Given the description of an element on the screen output the (x, y) to click on. 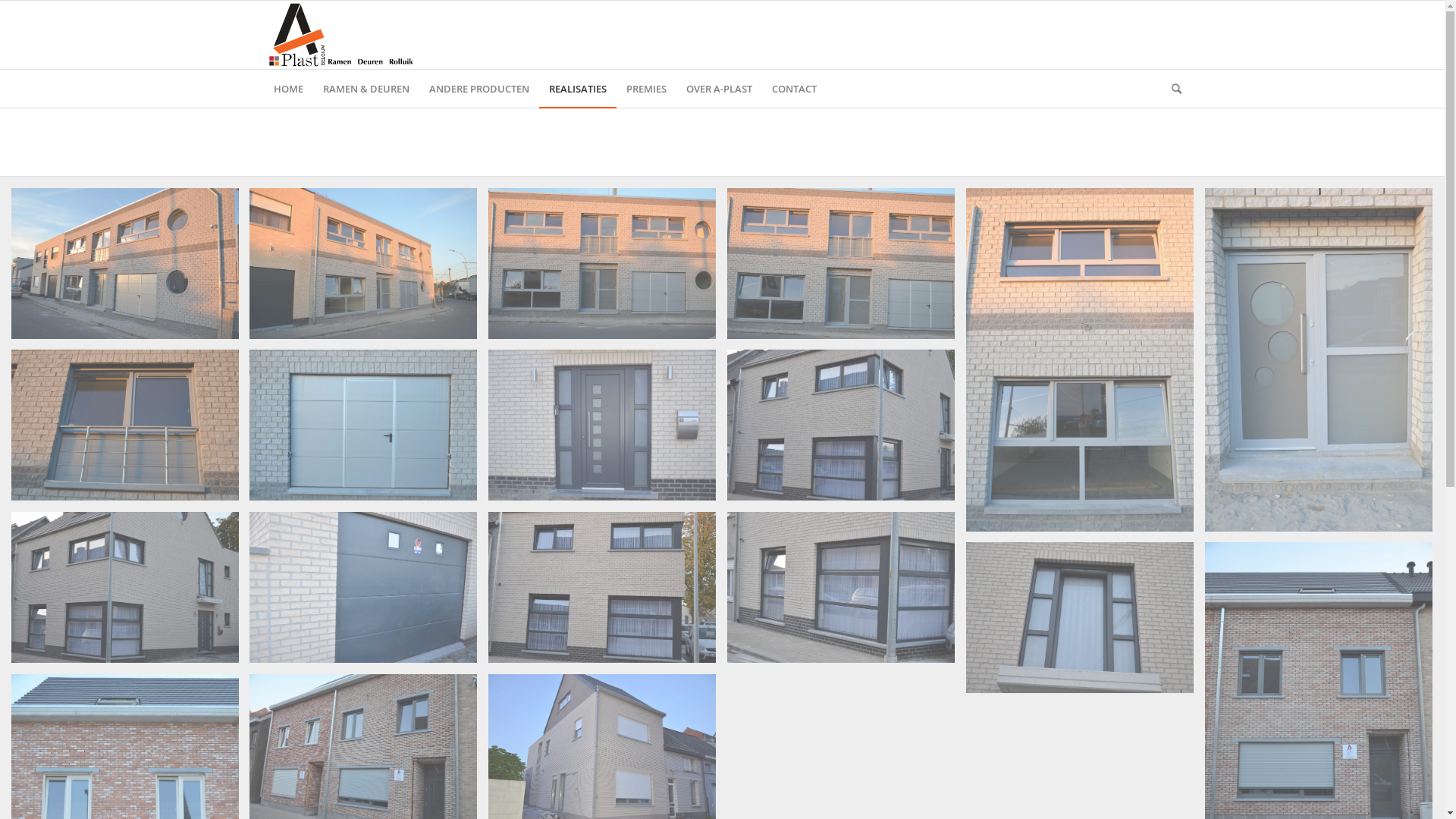
ANDERE PRODUCTEN Element type: text (478, 88)
HOME Element type: text (288, 88)
DSC_7775 Element type: hover (1079, 617)
DSC_7774 Element type: hover (601, 424)
DSC_7777 Element type: hover (840, 586)
DSC_7779 Element type: hover (362, 586)
DSC_7760 Element type: hover (362, 263)
OVER A-PLAST Element type: text (719, 88)
DSC_7793 Element type: hover (840, 424)
DSC_7770 Element type: hover (124, 424)
PREMIES Element type: text (645, 88)
DSC_7766 Element type: hover (840, 263)
CONTACT Element type: text (793, 88)
DSC_7767 Element type: hover (1079, 359)
DSC_7771 Element type: hover (362, 424)
DSC_7790 Element type: hover (124, 586)
DSC_7769 Element type: hover (1318, 359)
REALISATIES Element type: text (576, 88)
RAMEN & DEUREN Element type: text (365, 88)
DSC_7756 Element type: hover (124, 263)
DSC_7765 Element type: hover (601, 263)
DSC_7778 Element type: hover (601, 586)
